Given the description of an element on the screen output the (x, y) to click on. 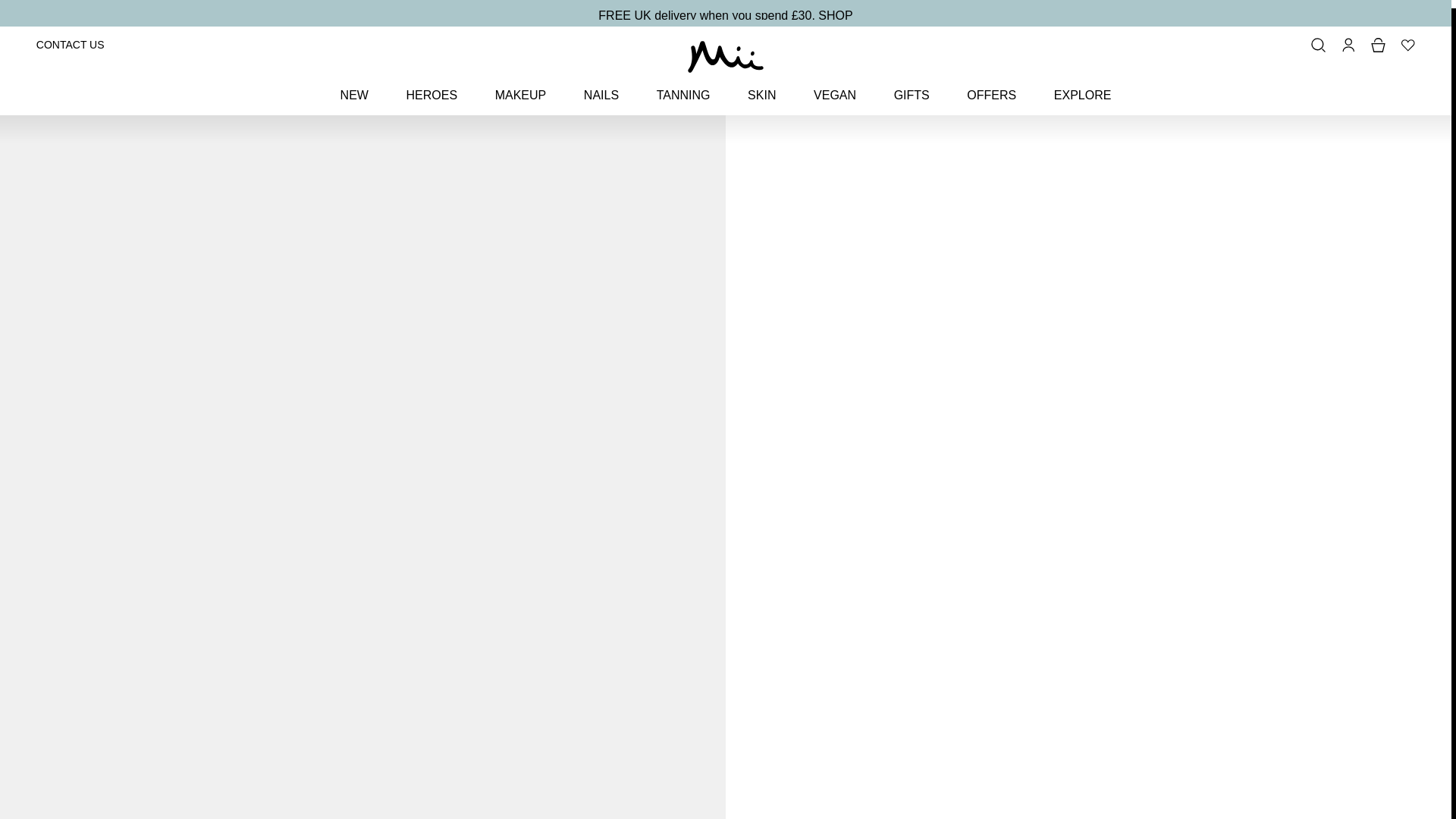
MAKEUP (520, 87)
CONTACT US (70, 36)
SHOP (834, 6)
NEW (354, 87)
HEROES (431, 87)
